Given the description of an element on the screen output the (x, y) to click on. 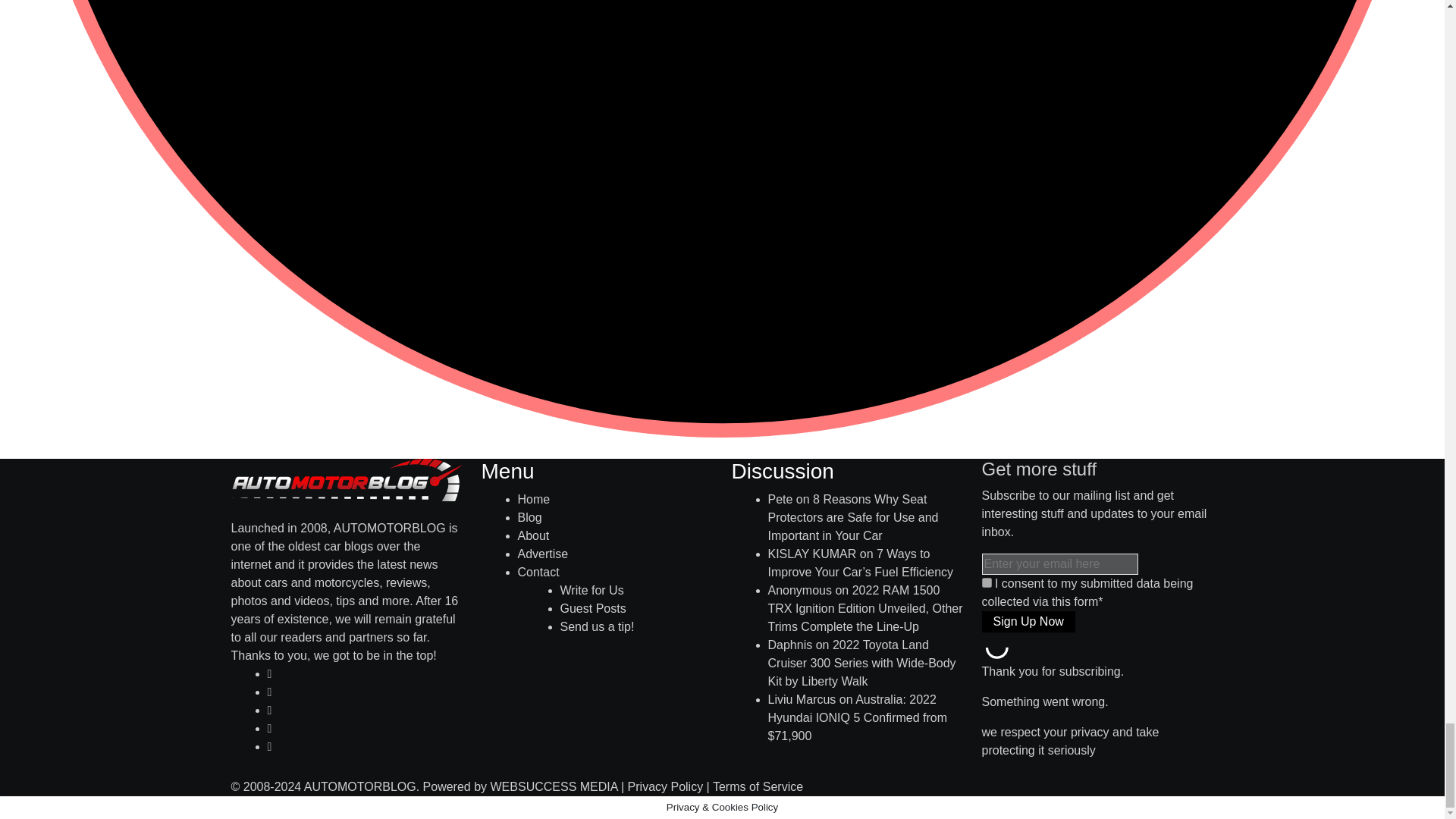
Sign Up Now (1027, 621)
on (986, 583)
